Given the description of an element on the screen output the (x, y) to click on. 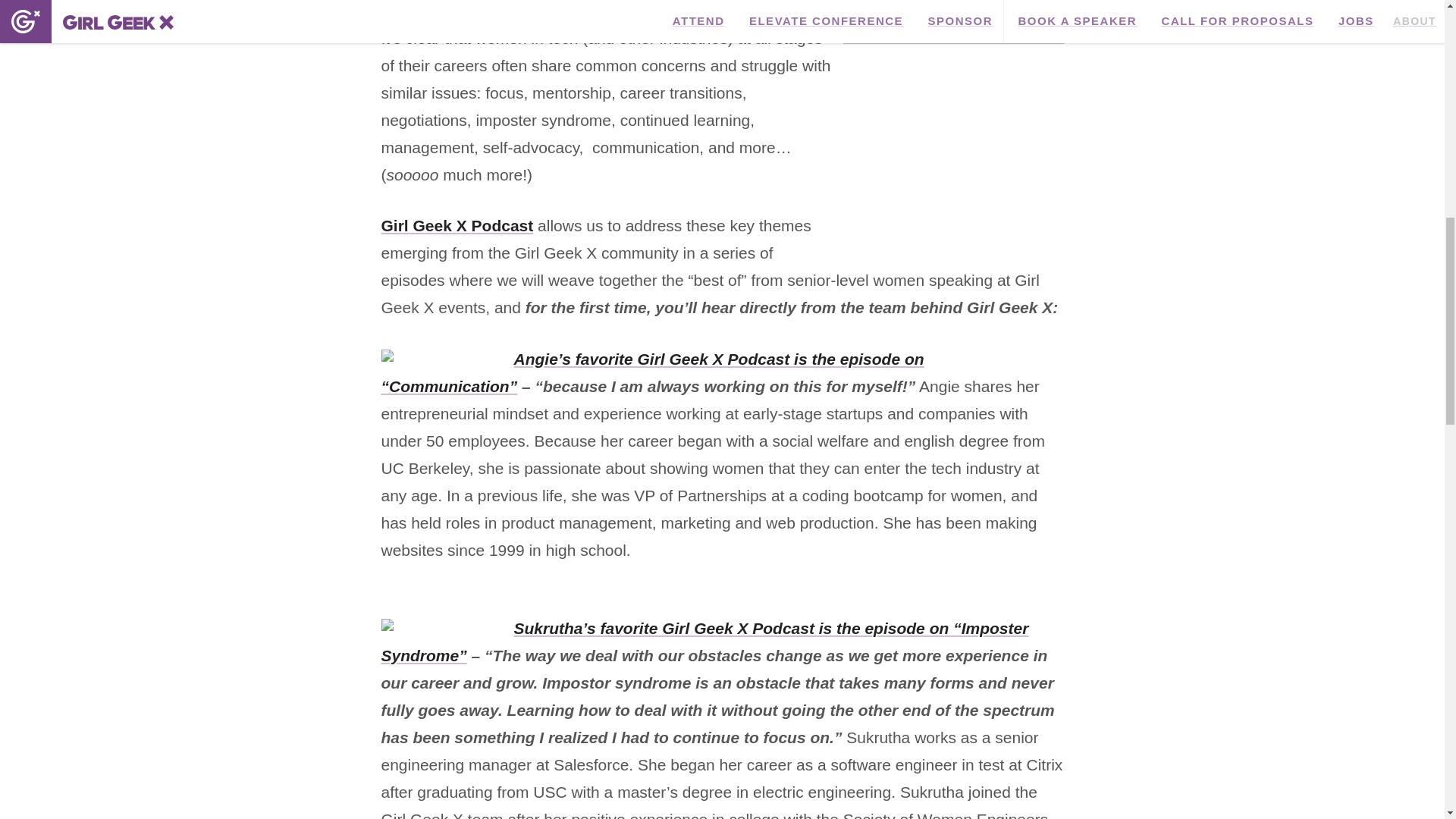
Girl Geek X Podcast (456, 225)
